Given the description of an element on the screen output the (x, y) to click on. 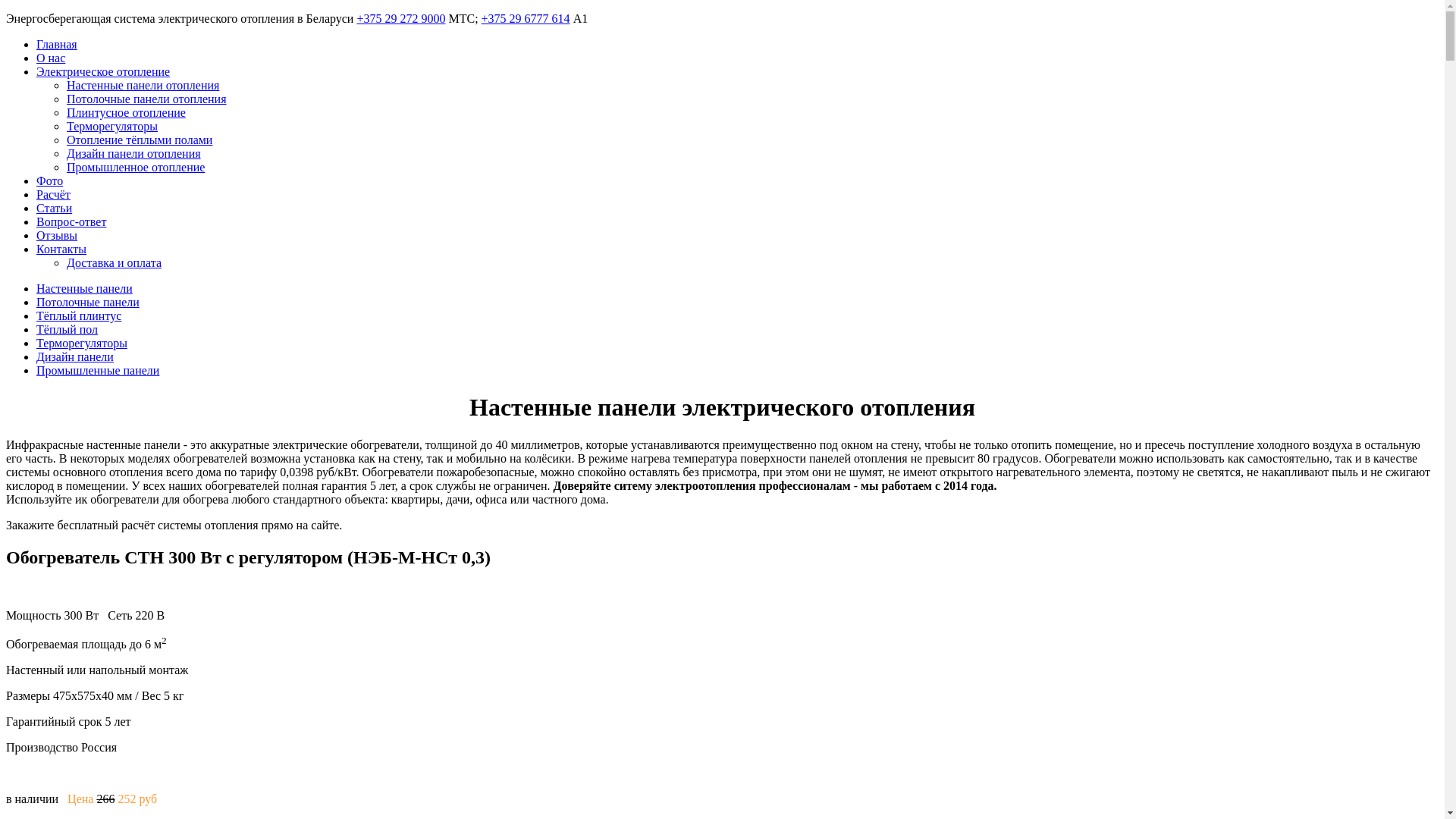
+375 29 6777 614 Element type: text (525, 18)
+375 29 272 9000 Element type: text (400, 18)
